Given the description of an element on the screen output the (x, y) to click on. 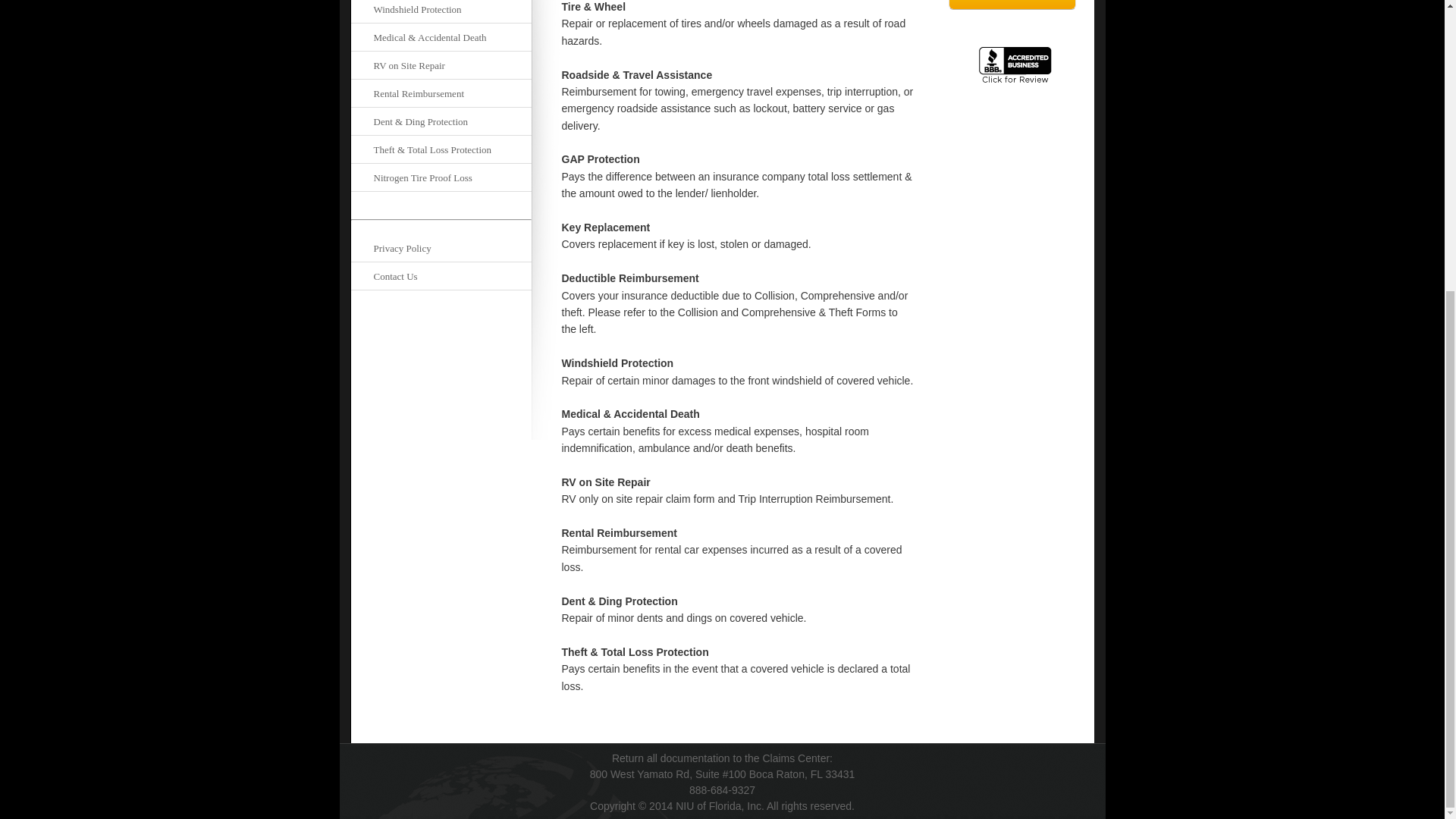
Contact Us (440, 276)
RV on Site Repair (440, 65)
Nitrogen Tire Proof Loss (440, 177)
Privacy Policy (440, 248)
Windshield Protection (440, 11)
Rental Reimbursement (440, 93)
